Given the description of an element on the screen output the (x, y) to click on. 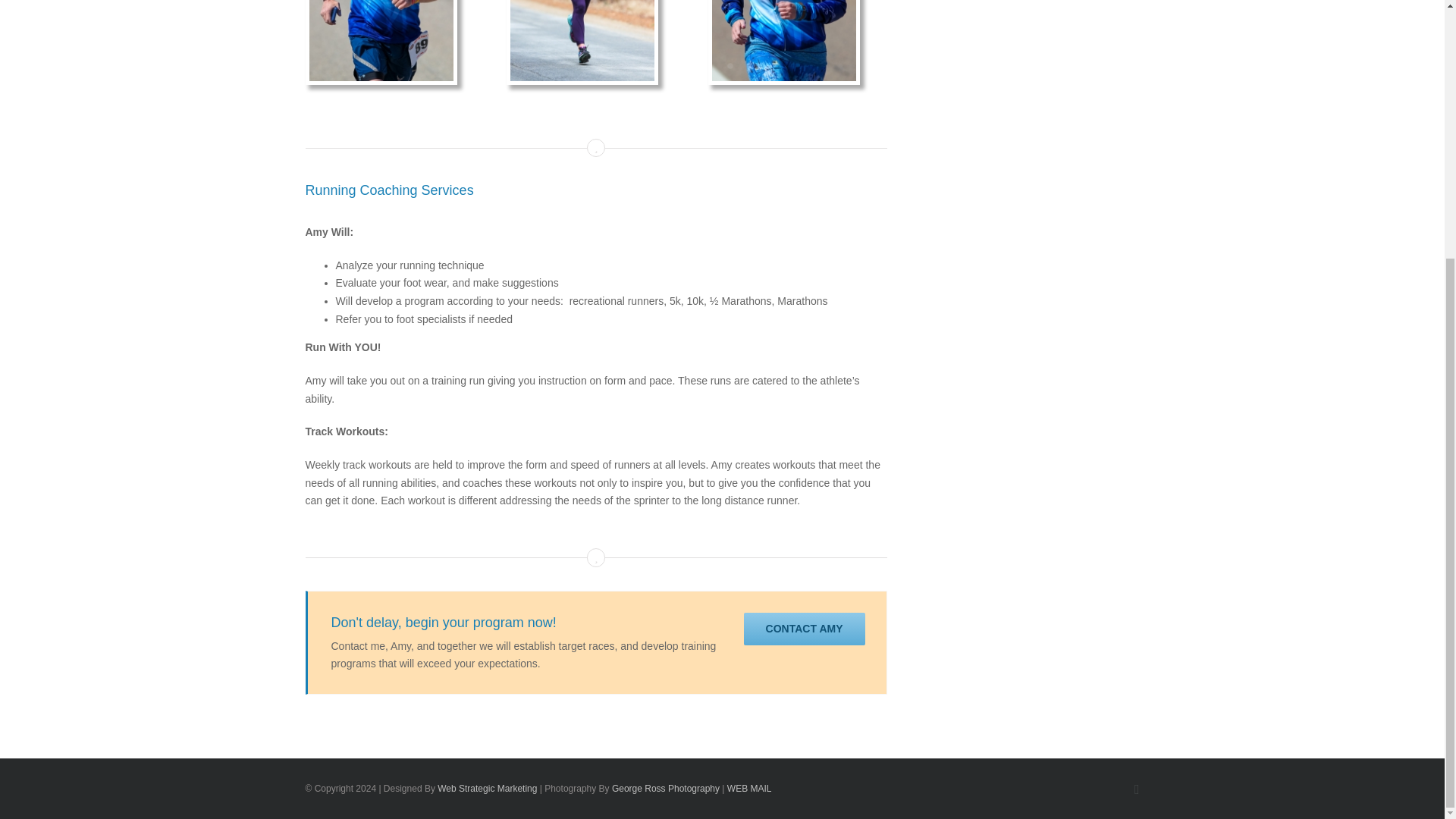
George Ross Photography (665, 787)
CONTACT AMY (804, 628)
WEB MAIL (748, 787)
Web Strategic Marketing (487, 787)
